Given the description of an element on the screen output the (x, y) to click on. 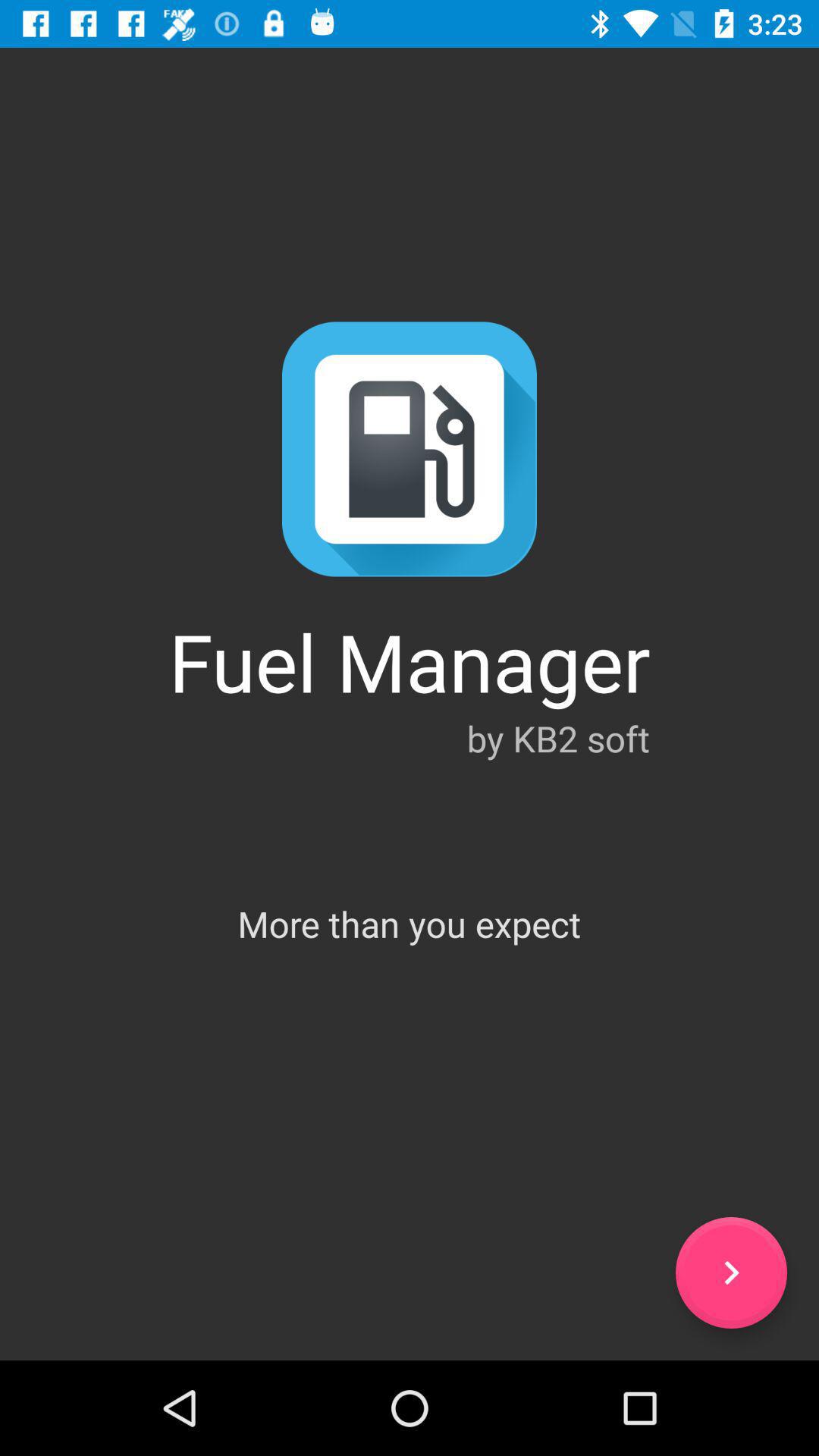
turn off the icon below the more than you icon (731, 1272)
